Given the description of an element on the screen output the (x, y) to click on. 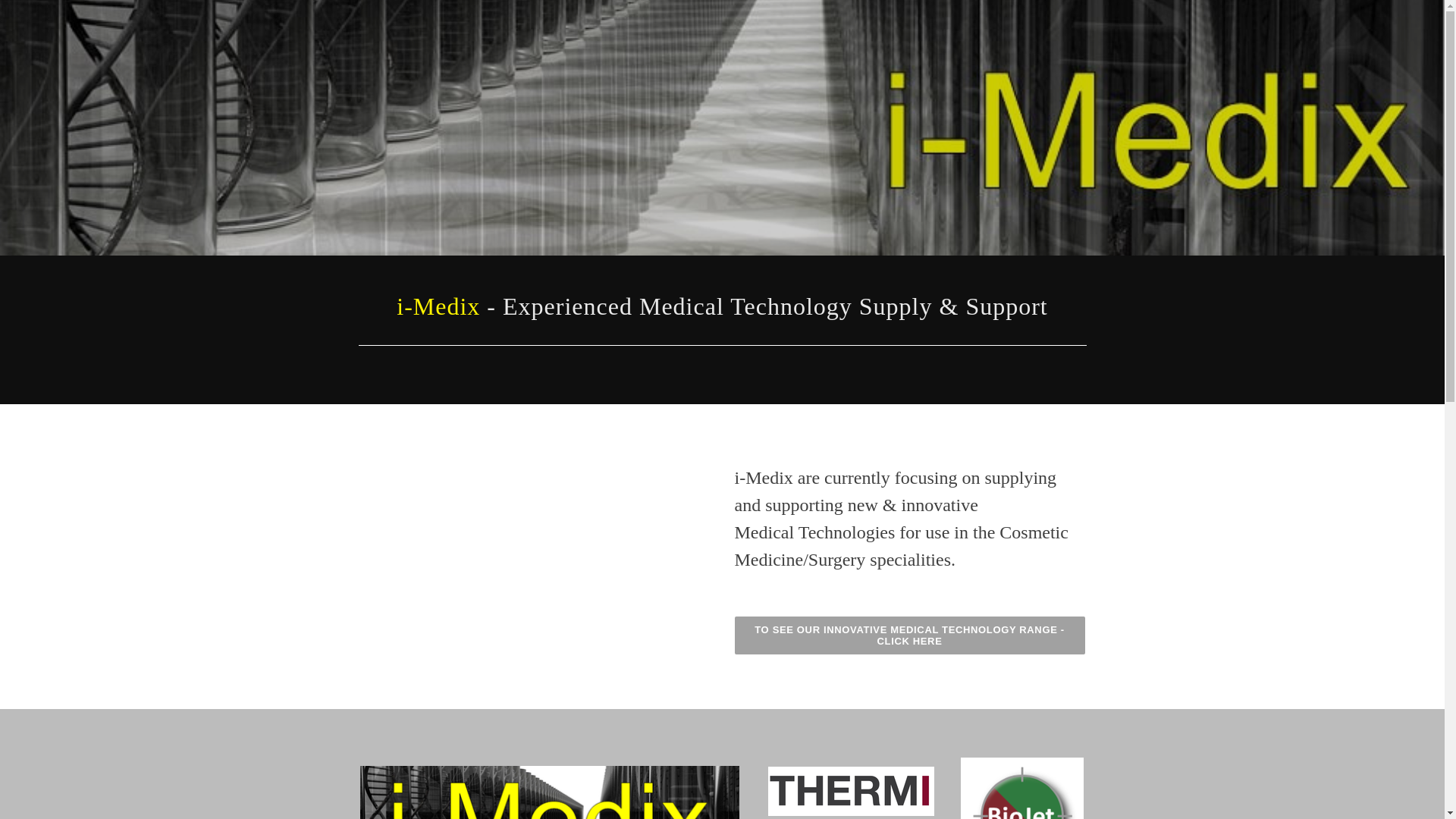
TO SEE OUR INNOVATIVE MEDICAL TECHNOLOGY RANGE - CLICK HERE Element type: text (909, 635)
